Given the description of an element on the screen output the (x, y) to click on. 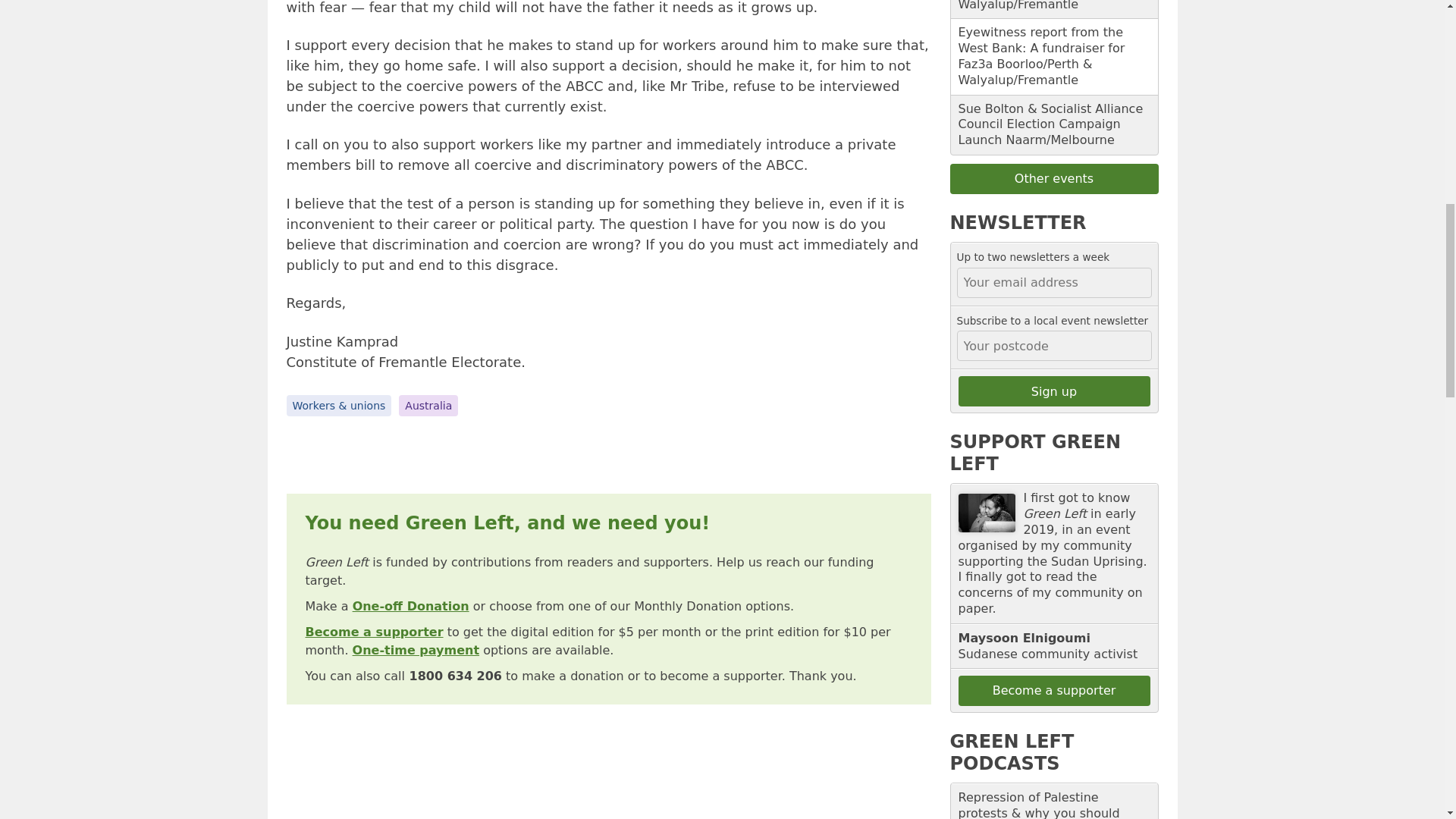
Sign up (1054, 390)
